Given the description of an element on the screen output the (x, y) to click on. 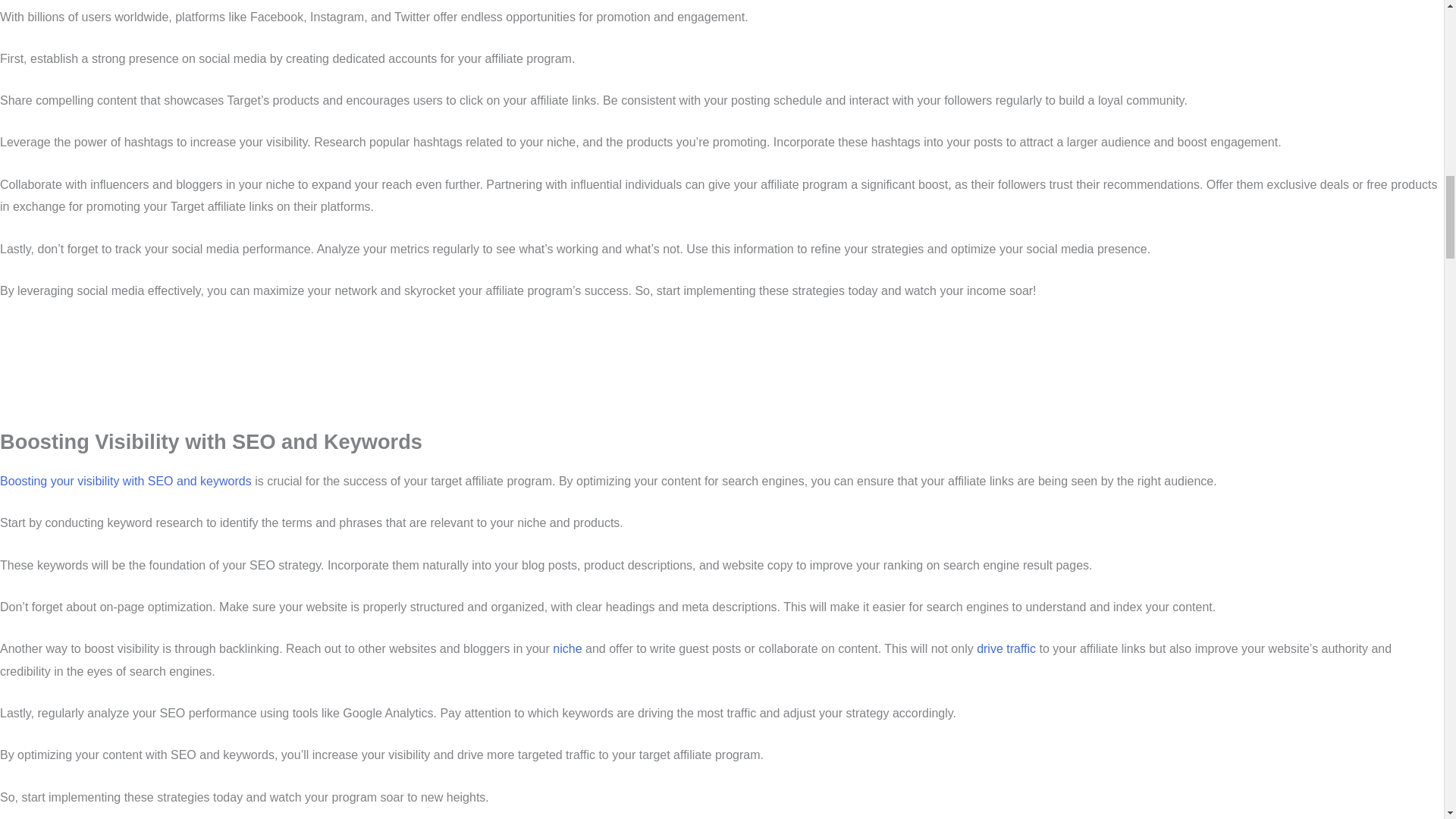
Boosting your visibility with SEO and keywords (125, 481)
niche (566, 648)
drive traffic (1005, 648)
